Given the description of an element on the screen output the (x, y) to click on. 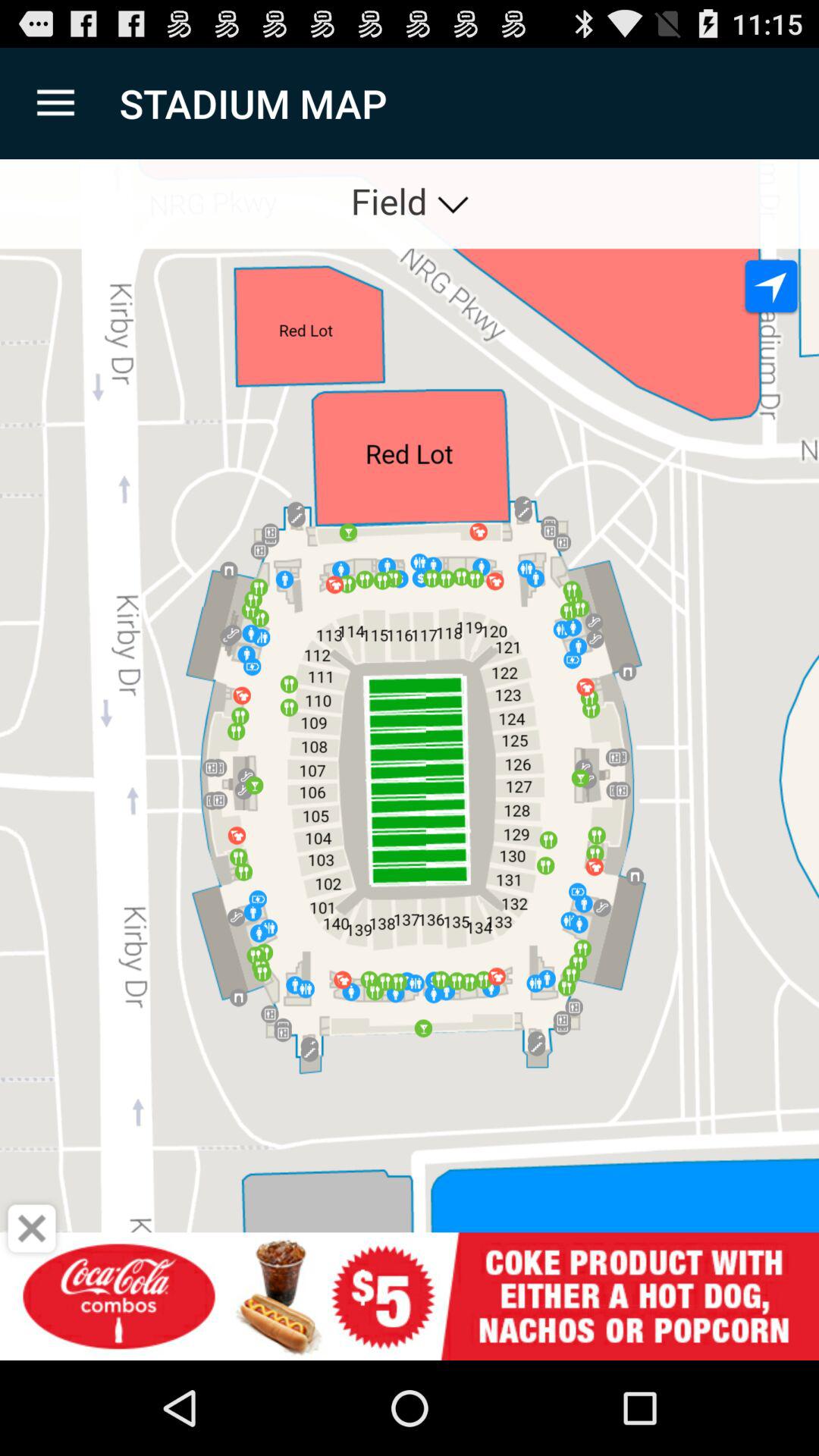
close (31, 1228)
